Given the description of an element on the screen output the (x, y) to click on. 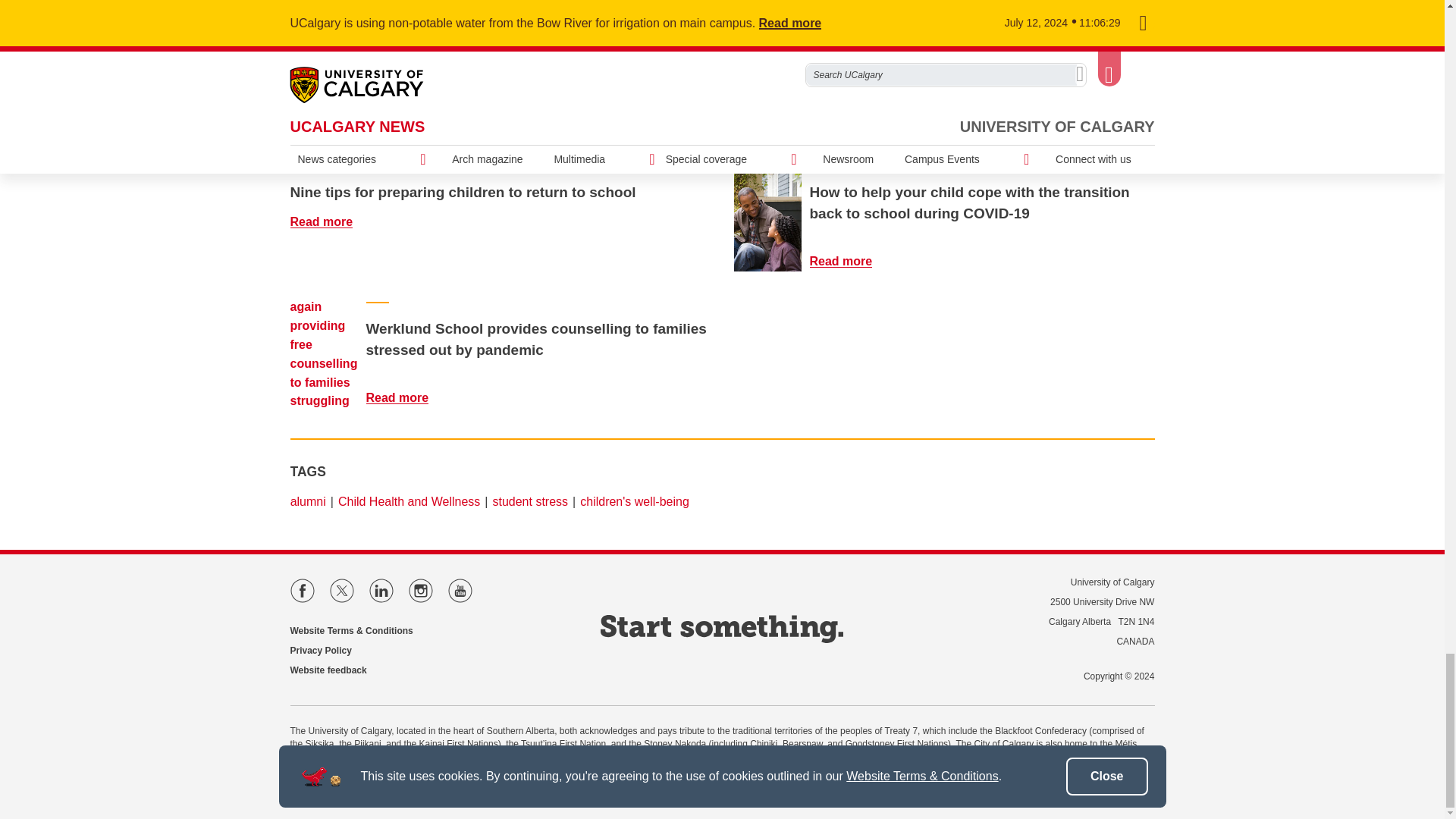
Nine tips for preparing children to return to school  (330, 221)
